Given the description of an element on the screen output the (x, y) to click on. 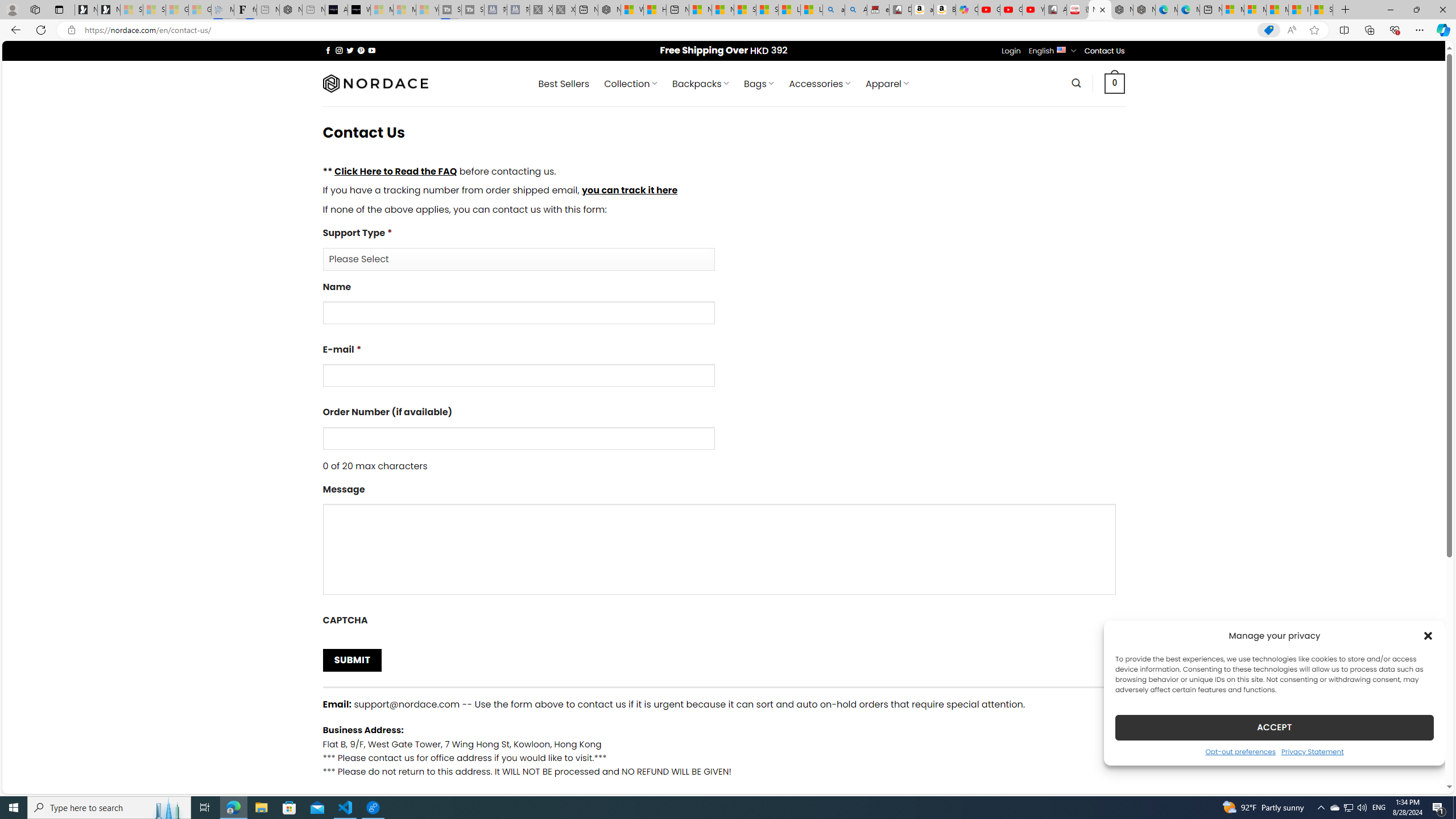
Copilot (966, 9)
English (1061, 49)
E-mail* (517, 375)
Privacy Statement (1312, 750)
